Given the description of an element on the screen output the (x, y) to click on. 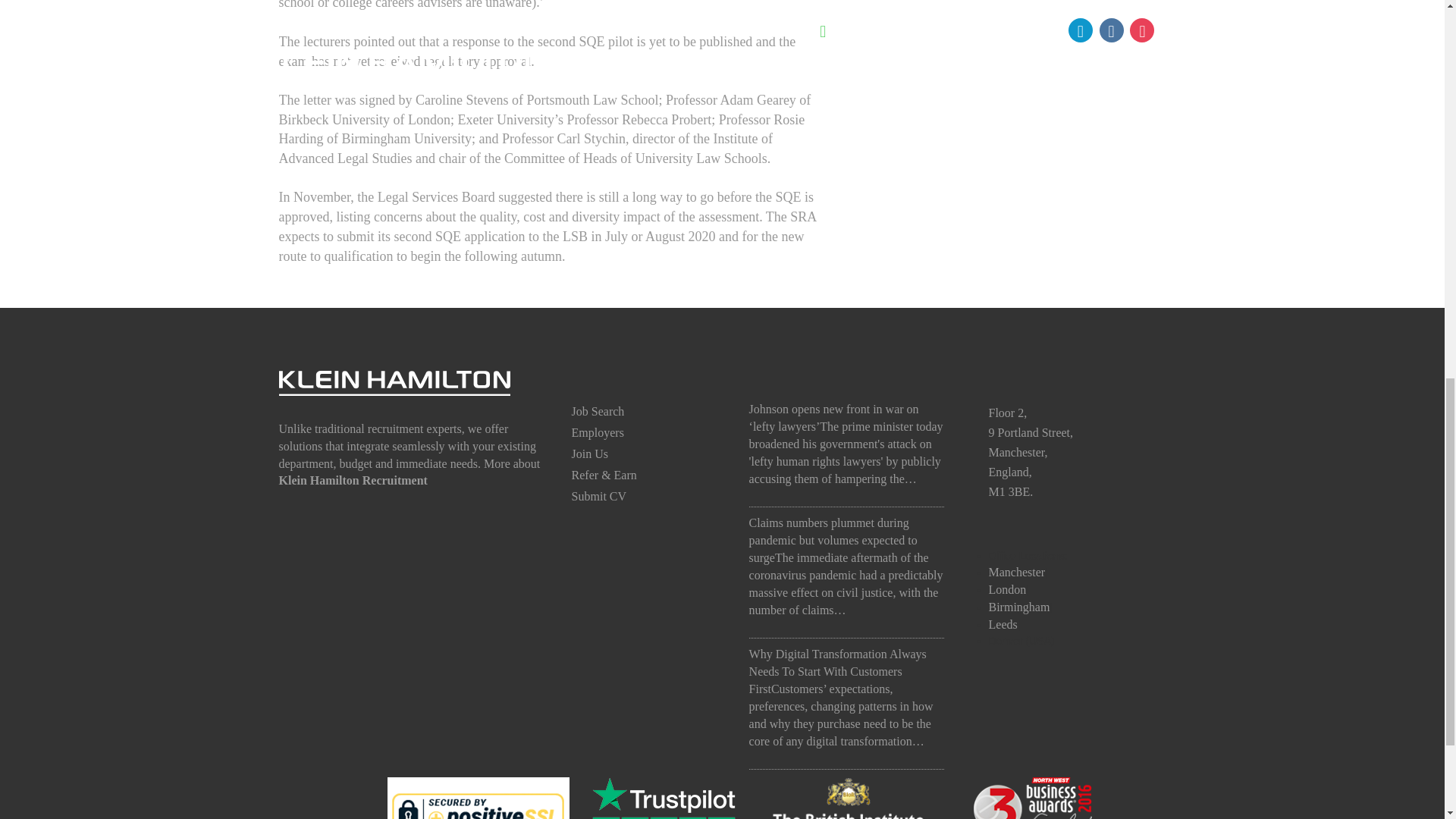
Manchester (1016, 571)
London (1007, 589)
Klein Hamilton Recruitment (353, 480)
Employers (598, 431)
Job Search (598, 410)
Submit CV (599, 495)
Leeds (1002, 624)
Birmingham (1018, 606)
Join Us (590, 453)
